Given the description of an element on the screen output the (x, y) to click on. 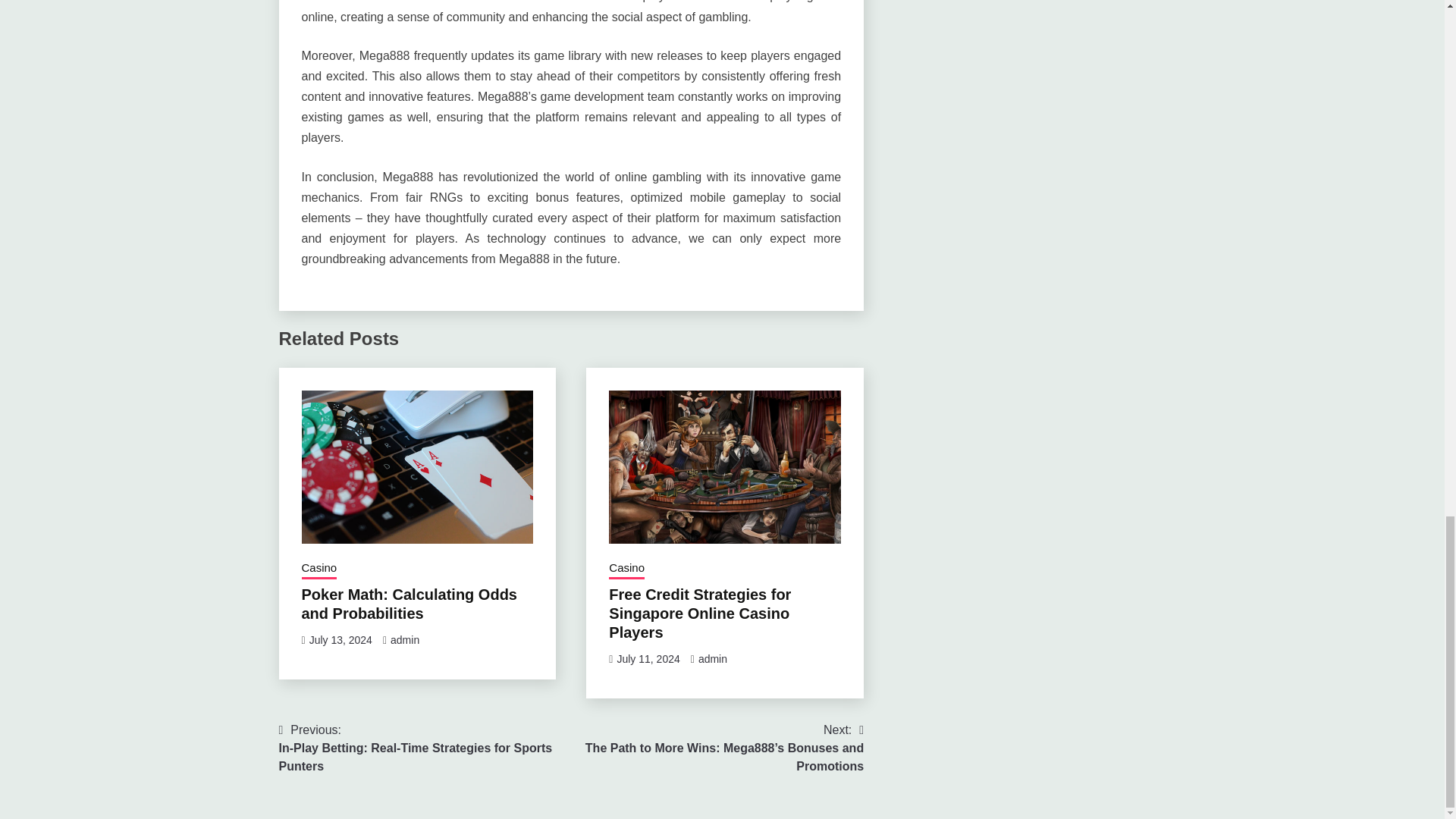
Casino (319, 569)
admin (712, 658)
Free Credit Strategies for Singapore Online Casino Players (699, 613)
admin (404, 639)
July 11, 2024 (647, 658)
Casino (626, 569)
July 13, 2024 (340, 639)
Poker Math: Calculating Odds and Probabilities (408, 603)
